Given the description of an element on the screen output the (x, y) to click on. 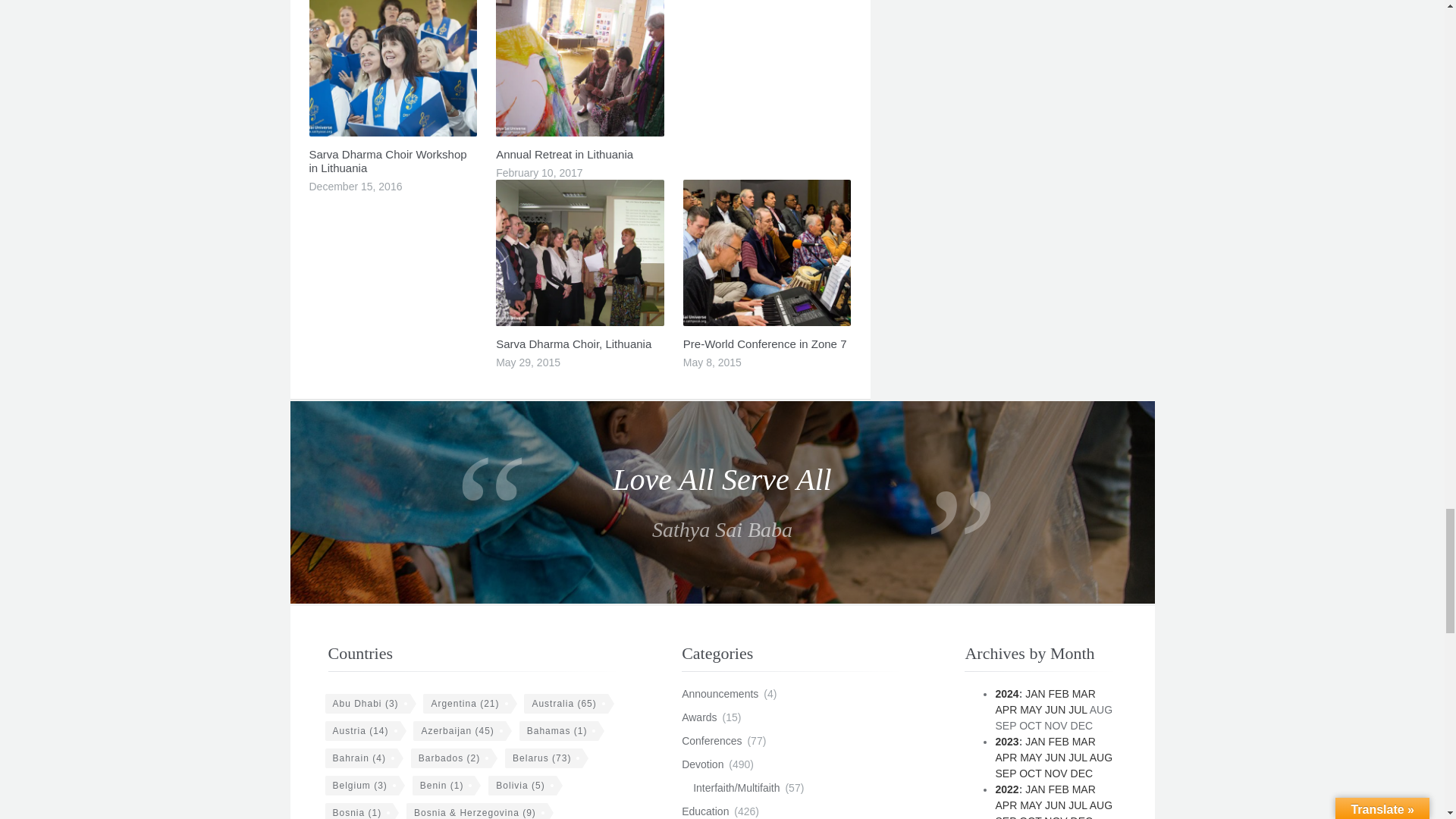
Sarva Dharma Choir Workshop in Lithuania (387, 161)
Annual Retreat in Lithuania (564, 154)
Awards given to the Sai Organisation (698, 717)
